Given the description of an element on the screen output the (x, y) to click on. 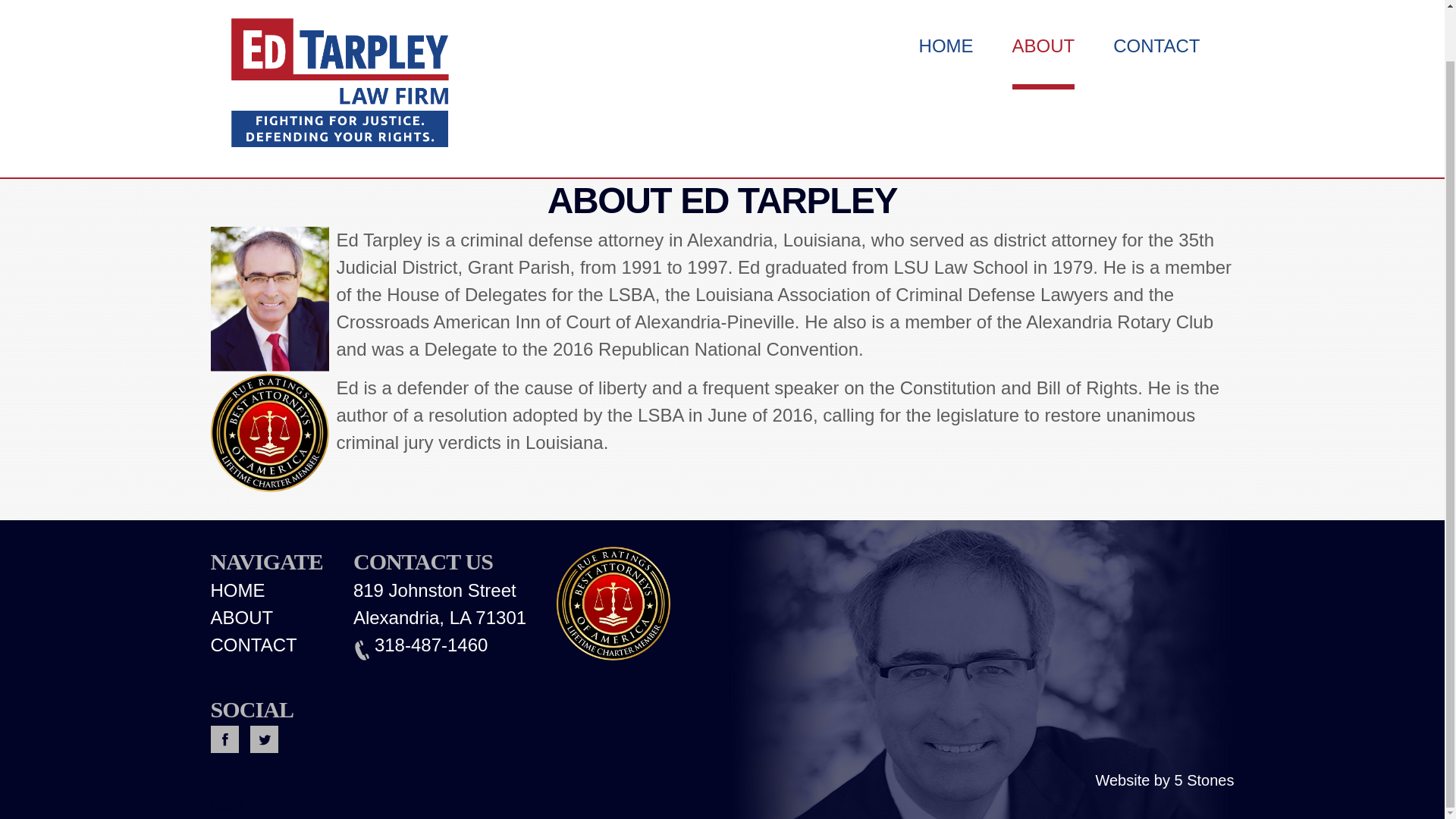
CONTACT (254, 644)
Login (227, 805)
5 Stones (1204, 780)
ABOUT (242, 617)
CONTACT (1156, 17)
HOME (946, 17)
Login (227, 805)
HOME (237, 589)
Ed Tarpley Law Firm (339, 31)
ABOUT (1043, 17)
